Given the description of an element on the screen output the (x, y) to click on. 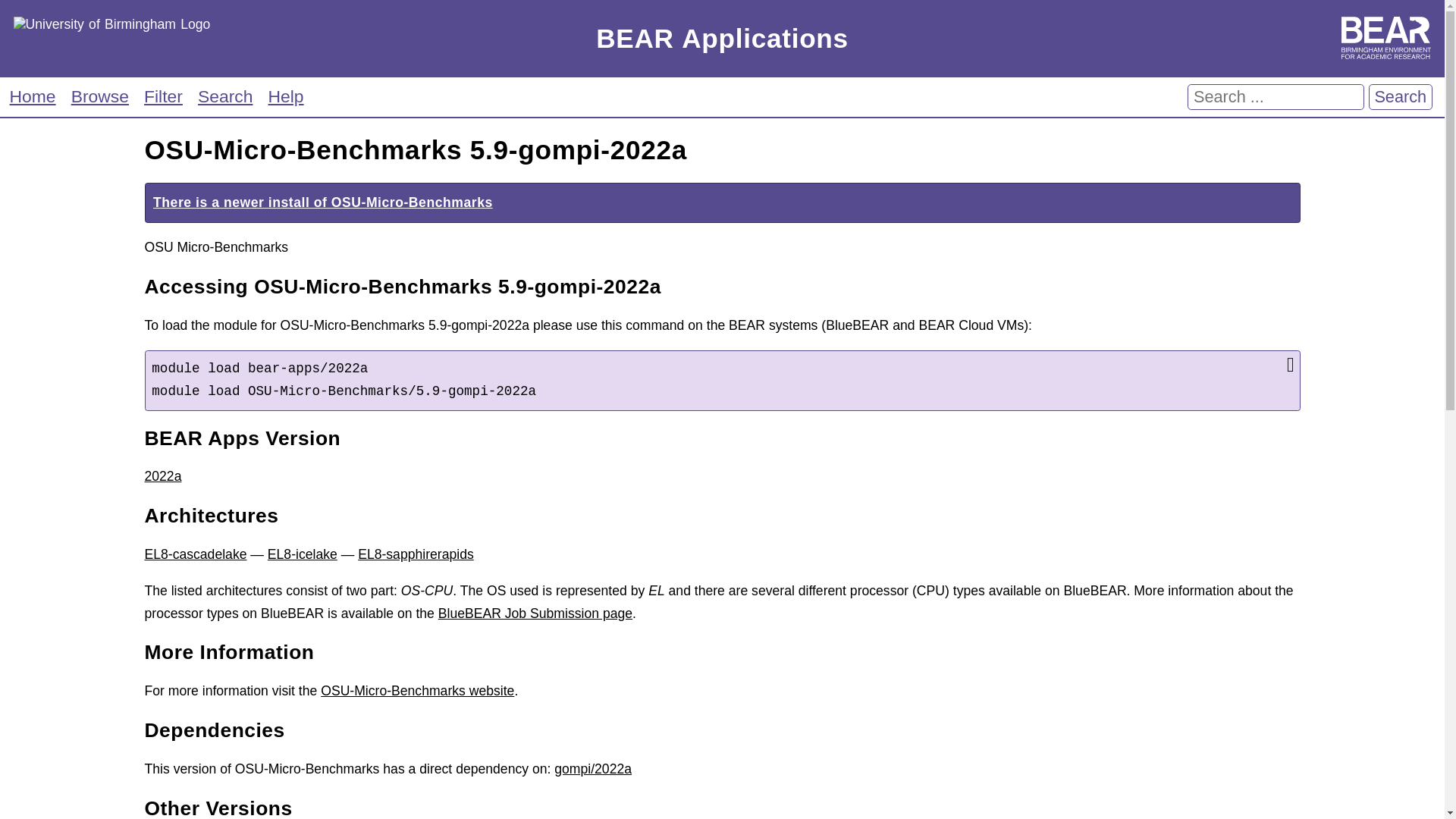
EL8-sapphirerapids (416, 554)
Help (285, 96)
BEAR Applications (722, 39)
Search (1400, 97)
2022a (162, 476)
Browse (99, 96)
Filter (162, 96)
BlueBEAR Job Submission page (534, 613)
EL8-cascadelake (195, 554)
EL8-icelake (302, 554)
